Given the description of an element on the screen output the (x, y) to click on. 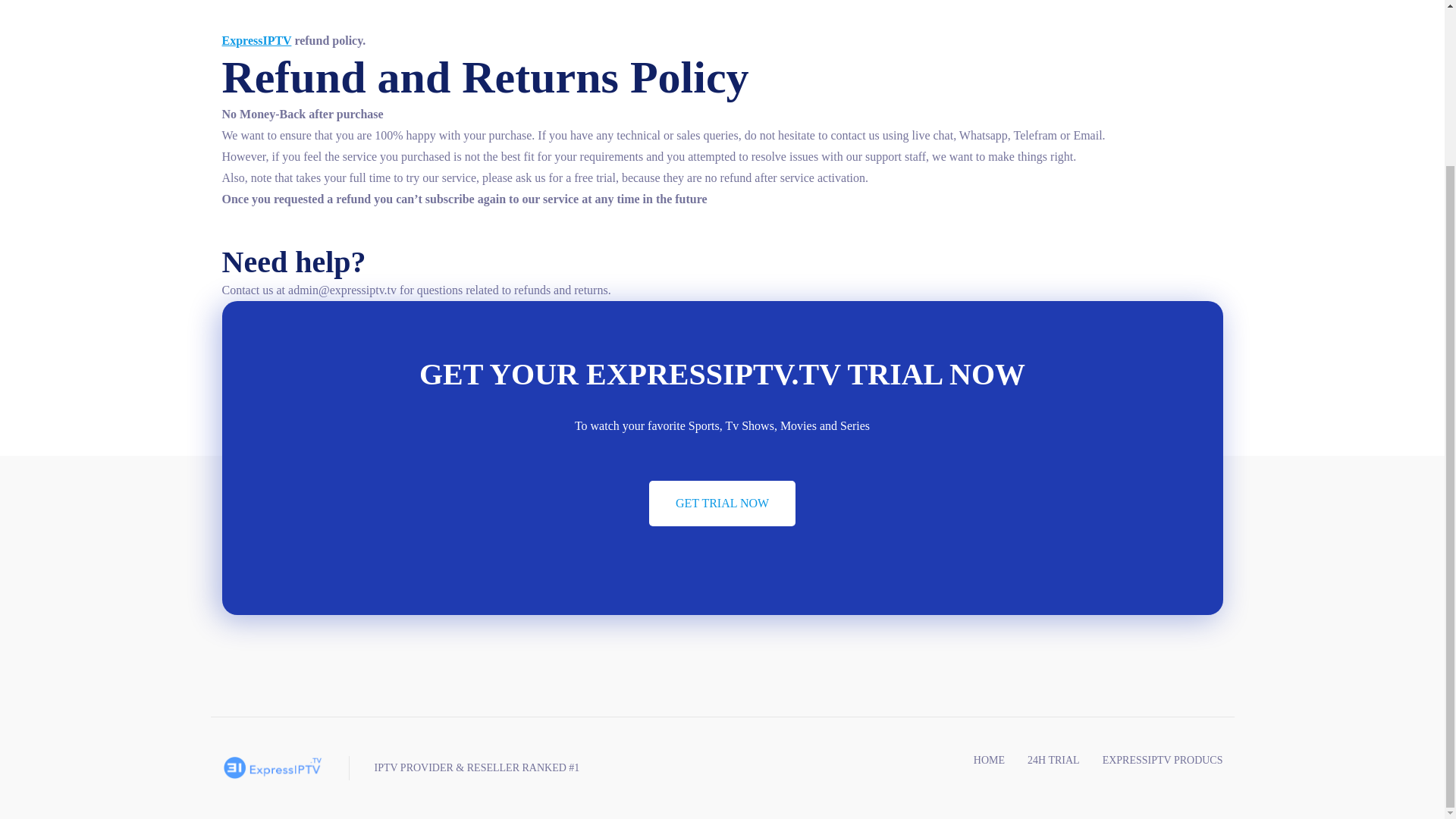
GET TRIAL NOW (721, 503)
24H TRIAL (1053, 759)
EXPRESSIPTV PRODUCS (1162, 759)
HOME (989, 759)
ExpressIPTV (256, 40)
